Given the description of an element on the screen output the (x, y) to click on. 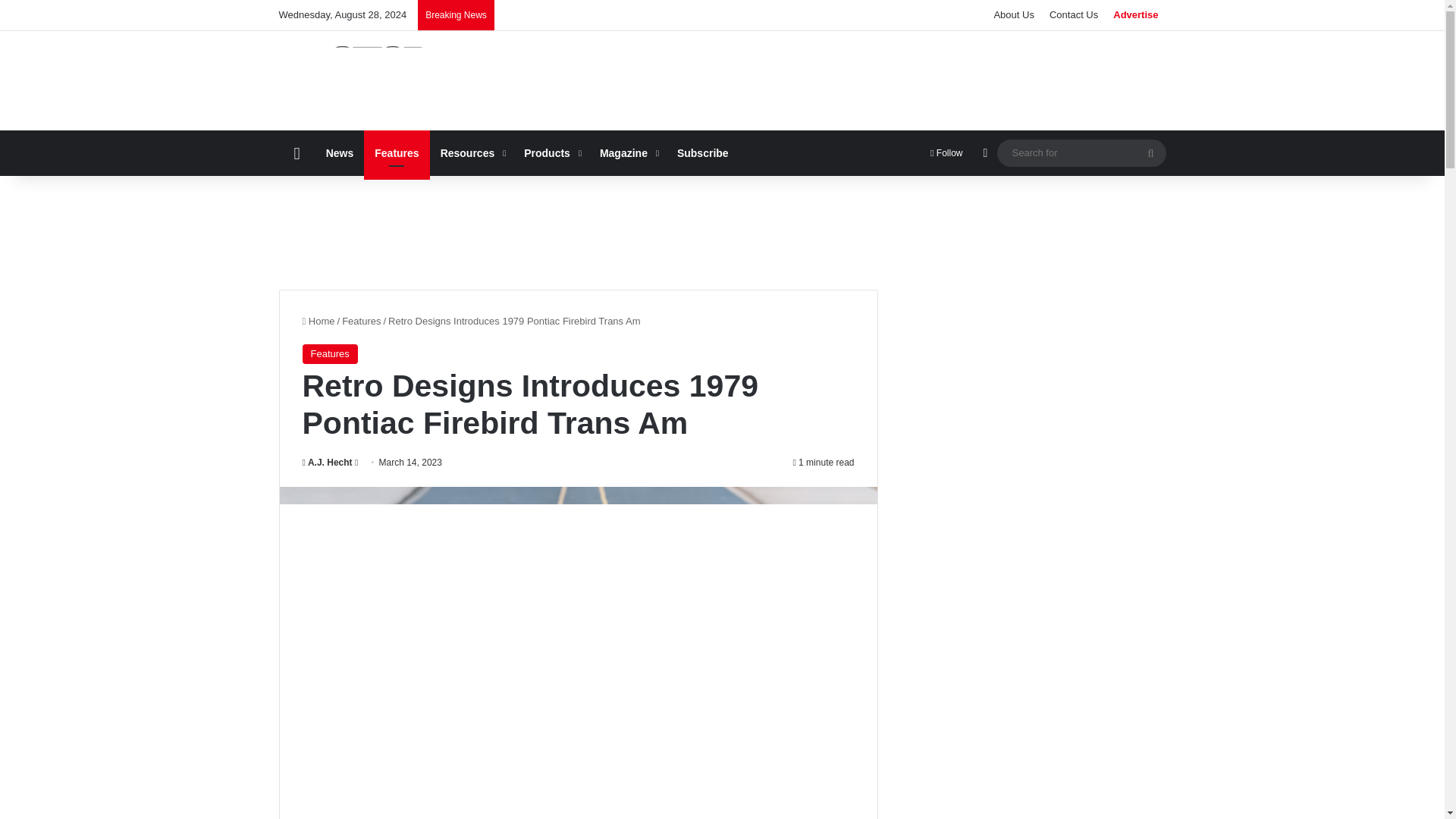
Features (396, 153)
Advertise (1135, 15)
About Us (1013, 15)
Follow (946, 153)
Subscribe (702, 153)
Search for (1150, 153)
Search for (1080, 152)
Magazine (627, 153)
News (340, 153)
Home (317, 320)
